Given the description of an element on the screen output the (x, y) to click on. 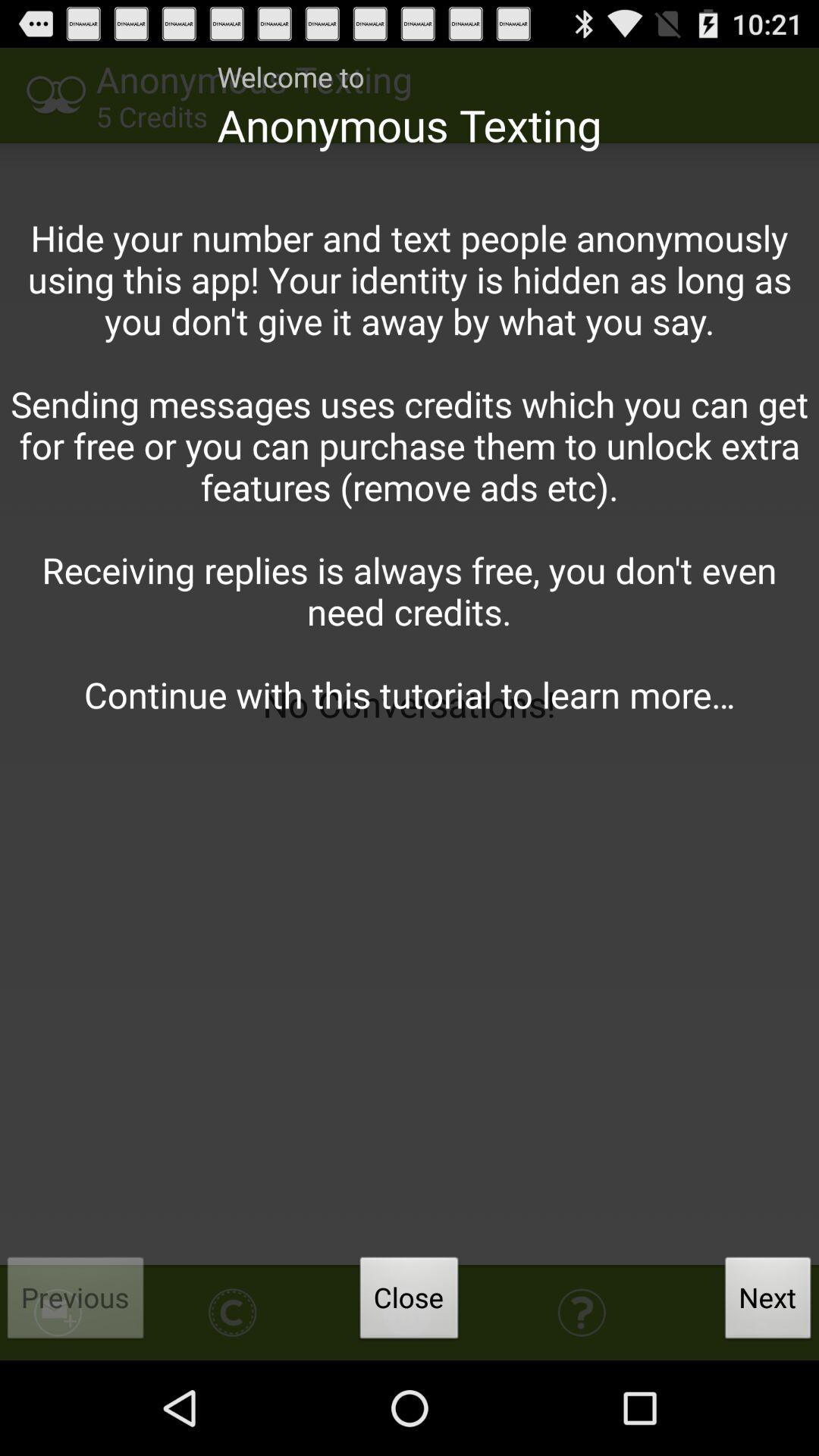
choose icon next to the next item (409, 1302)
